Given the description of an element on the screen output the (x, y) to click on. 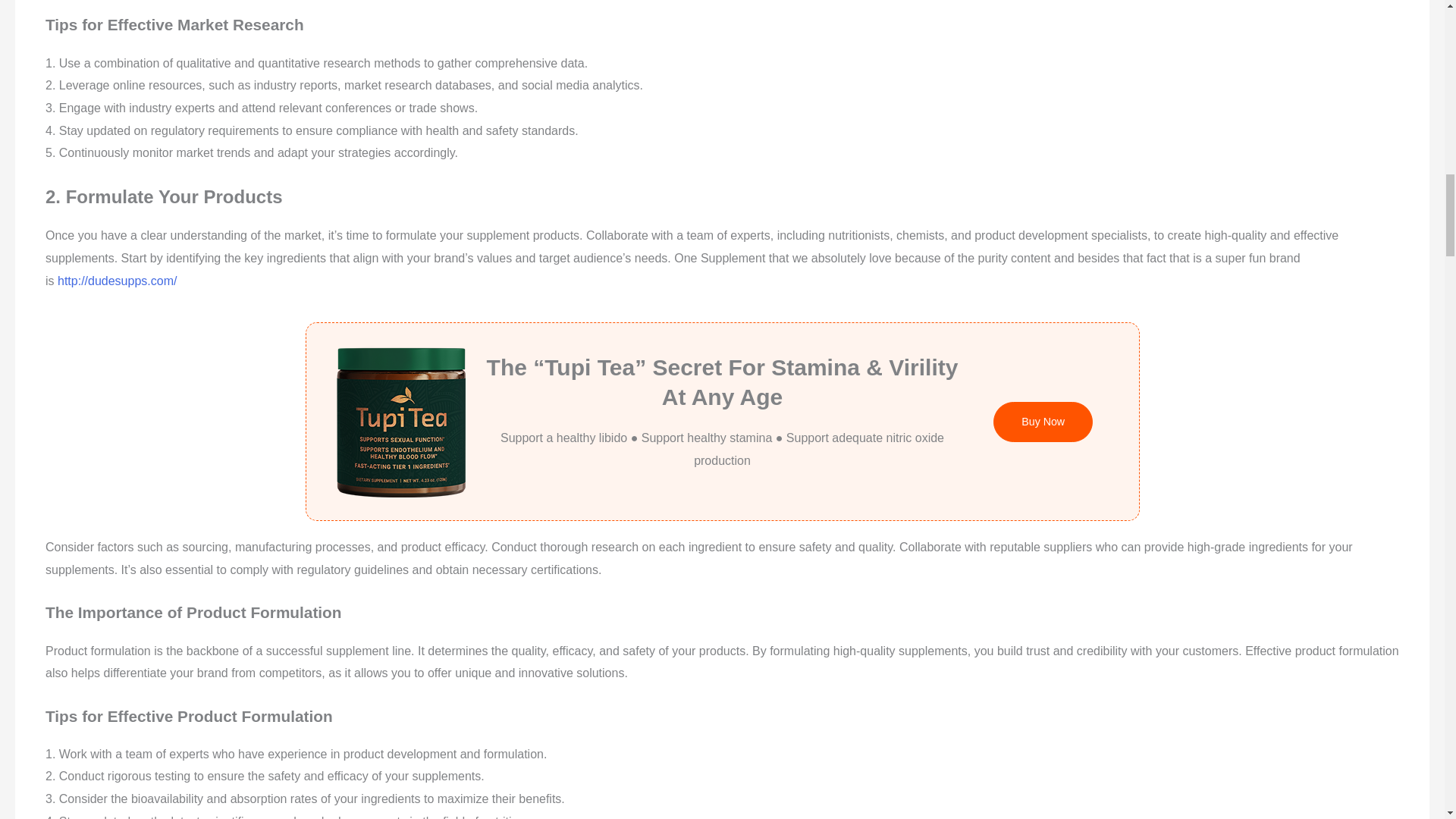
Buy Now (1042, 421)
